Given the description of an element on the screen output the (x, y) to click on. 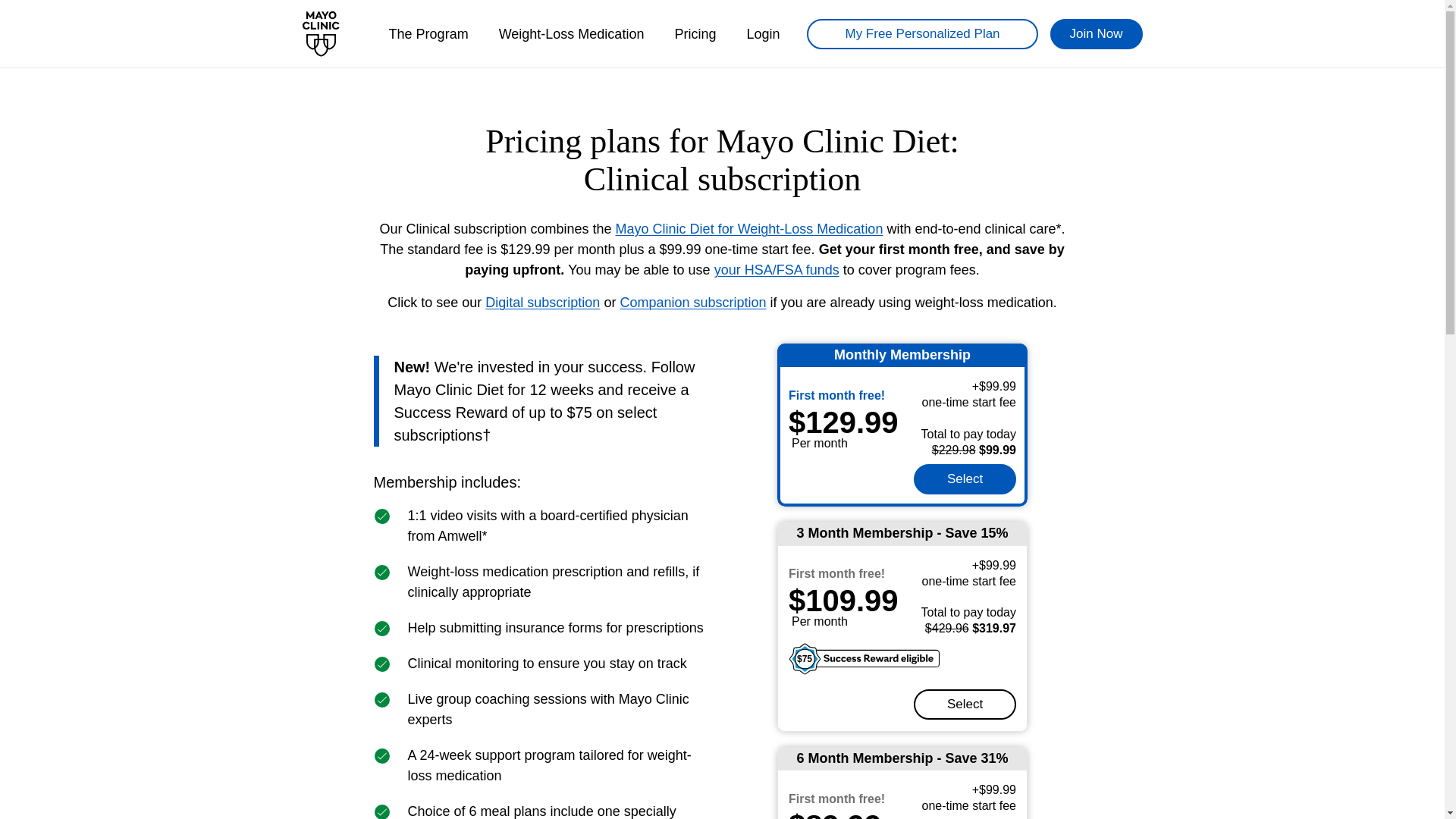
Select (965, 704)
Digital Program Pricing (541, 302)
HSA FSA Funds (777, 269)
Join Now (1095, 33)
Companion subscription (692, 302)
Rx Companion Pricing (692, 302)
The Program (428, 33)
Need Access to Medication? (749, 228)
Digital subscription (541, 302)
My Free Personalized Plan (921, 33)
